Given the description of an element on the screen output the (x, y) to click on. 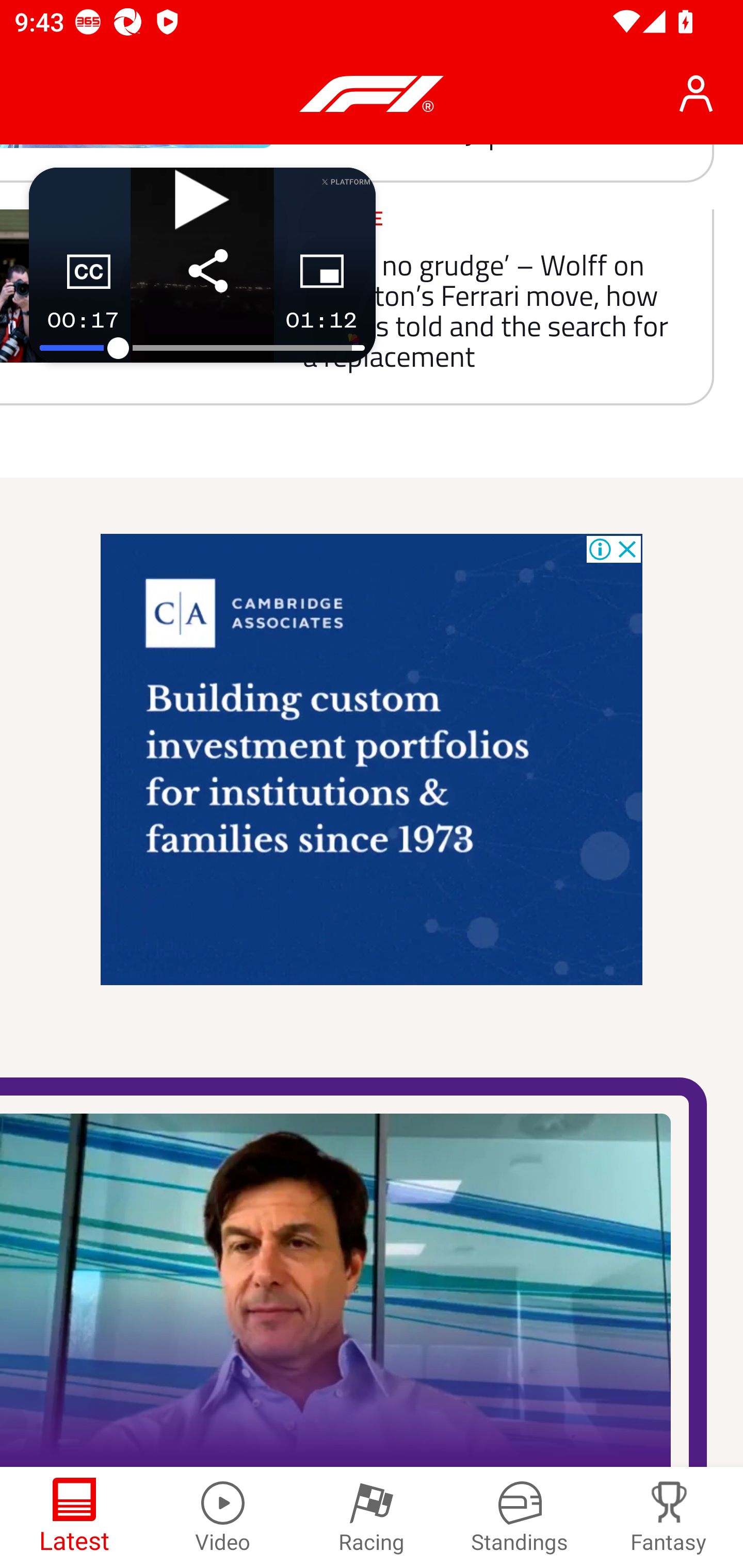
Video (222, 1517)
Racing (371, 1517)
Standings (519, 1517)
Fantasy (668, 1517)
